Given the description of an element on the screen output the (x, y) to click on. 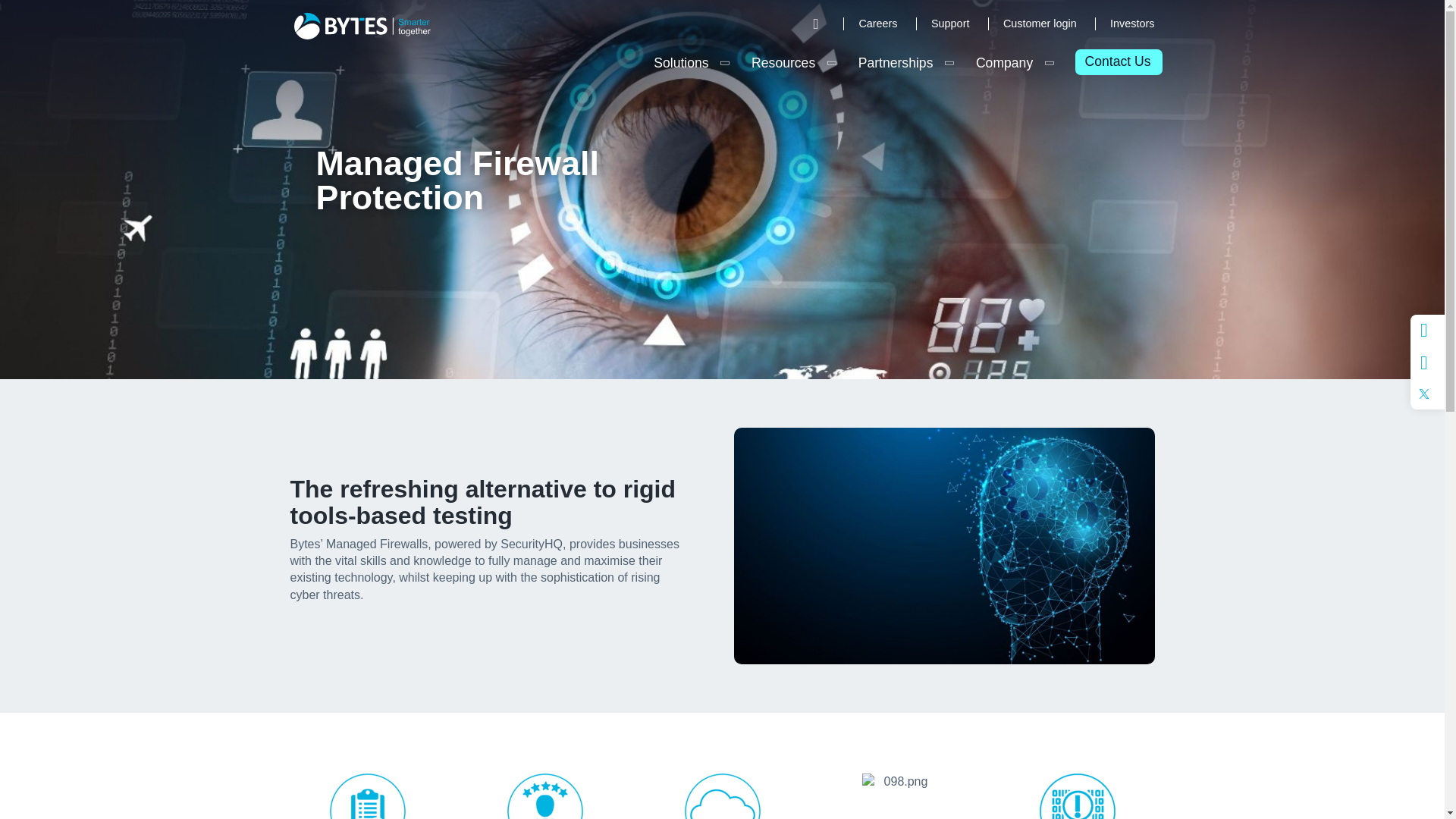
Solutions (681, 62)
Investors (1128, 23)
Contact Us (1117, 61)
Customer login (1039, 23)
Careers (877, 23)
Support (949, 23)
Partnerships (894, 62)
Company (1004, 62)
Resources (783, 62)
